Given the description of an element on the screen output the (x, y) to click on. 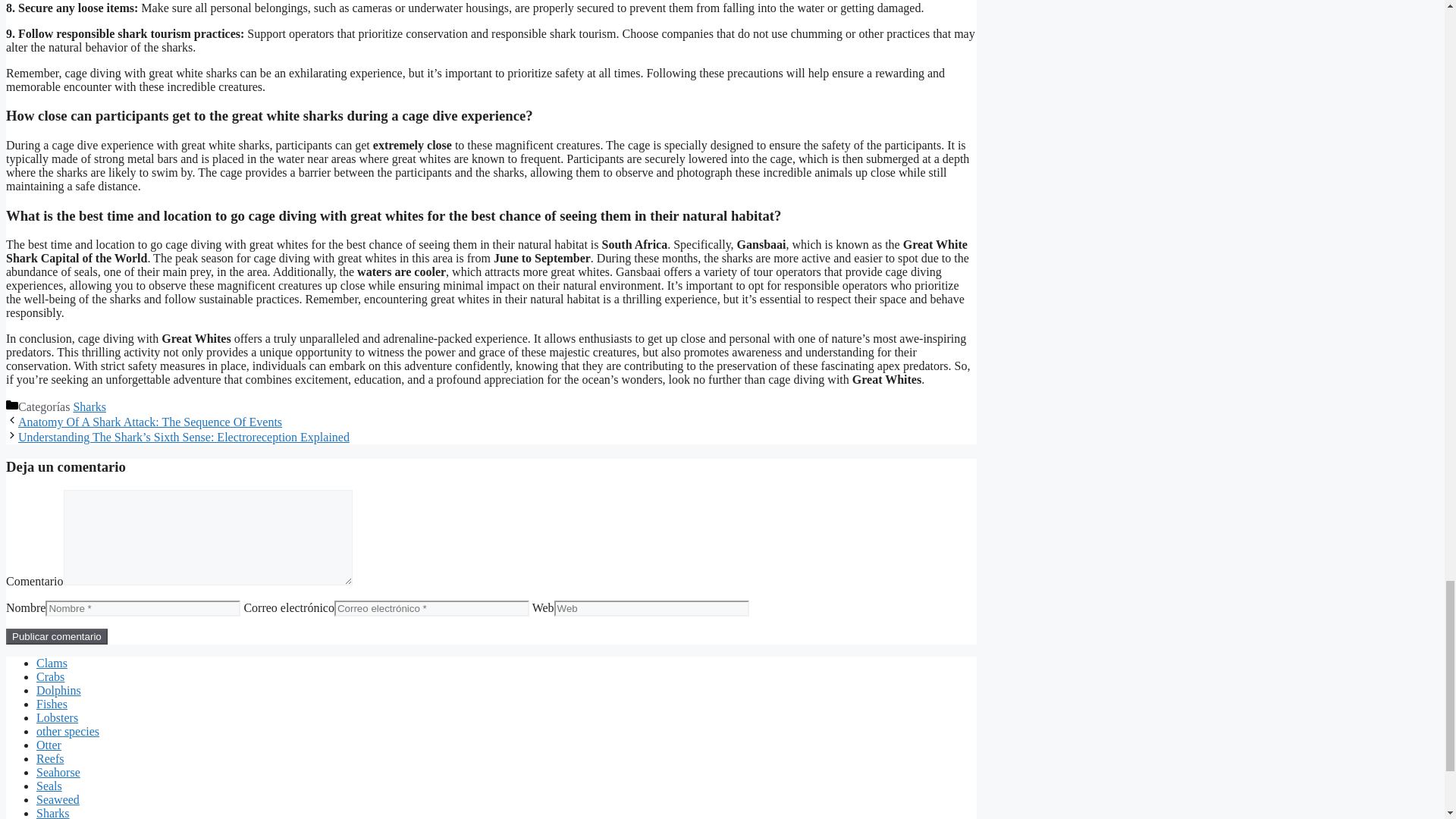
Anatomy Of A Shark Attack: The Sequence Of Events (149, 421)
Publicar comentario (56, 636)
Sharks (89, 406)
Clams (51, 662)
Publicar comentario (56, 636)
